Given the description of an element on the screen output the (x, y) to click on. 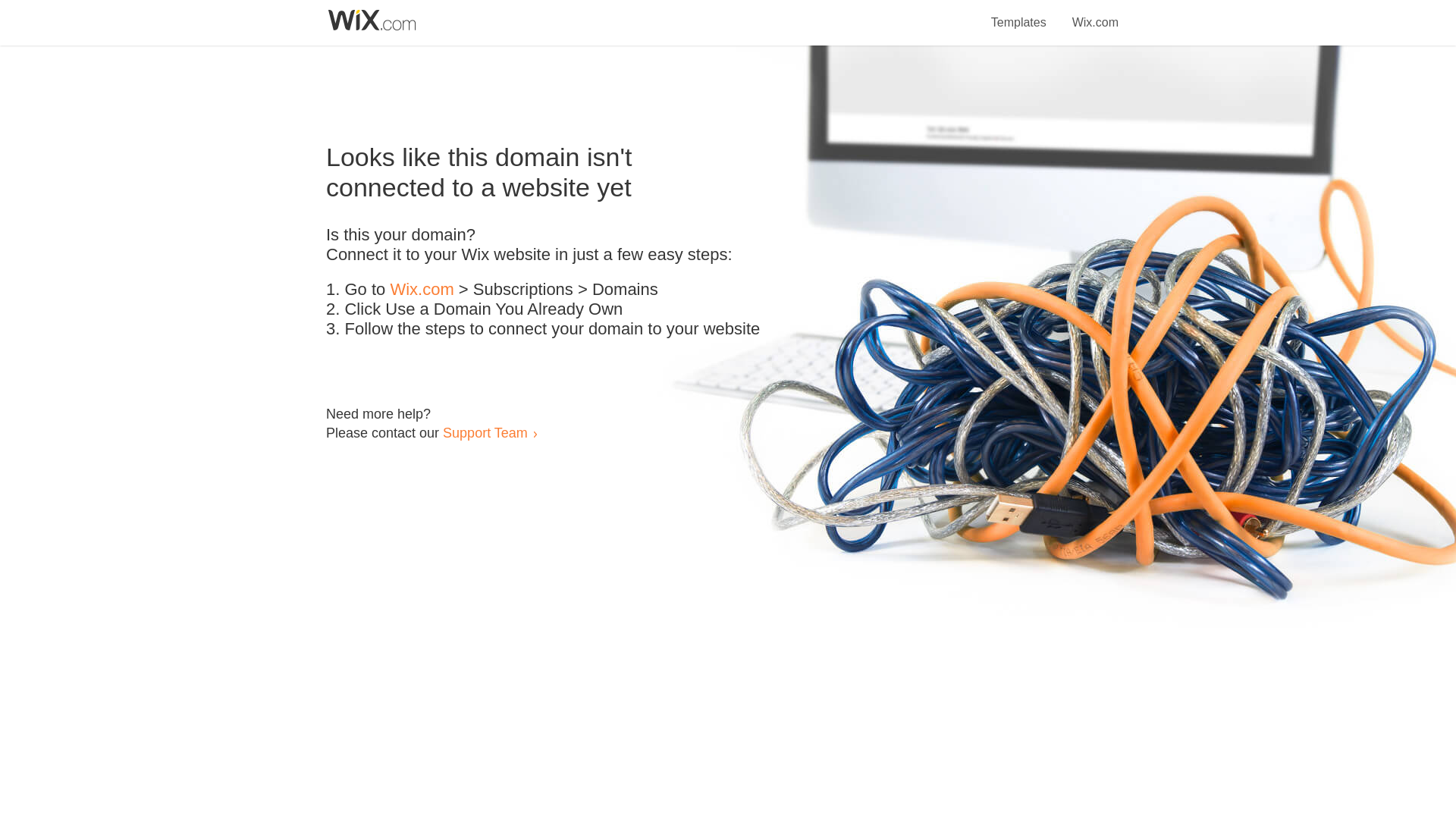
Support Team (484, 432)
Wix.com (1095, 14)
Templates (1018, 14)
Wix.com (421, 289)
